Given the description of an element on the screen output the (x, y) to click on. 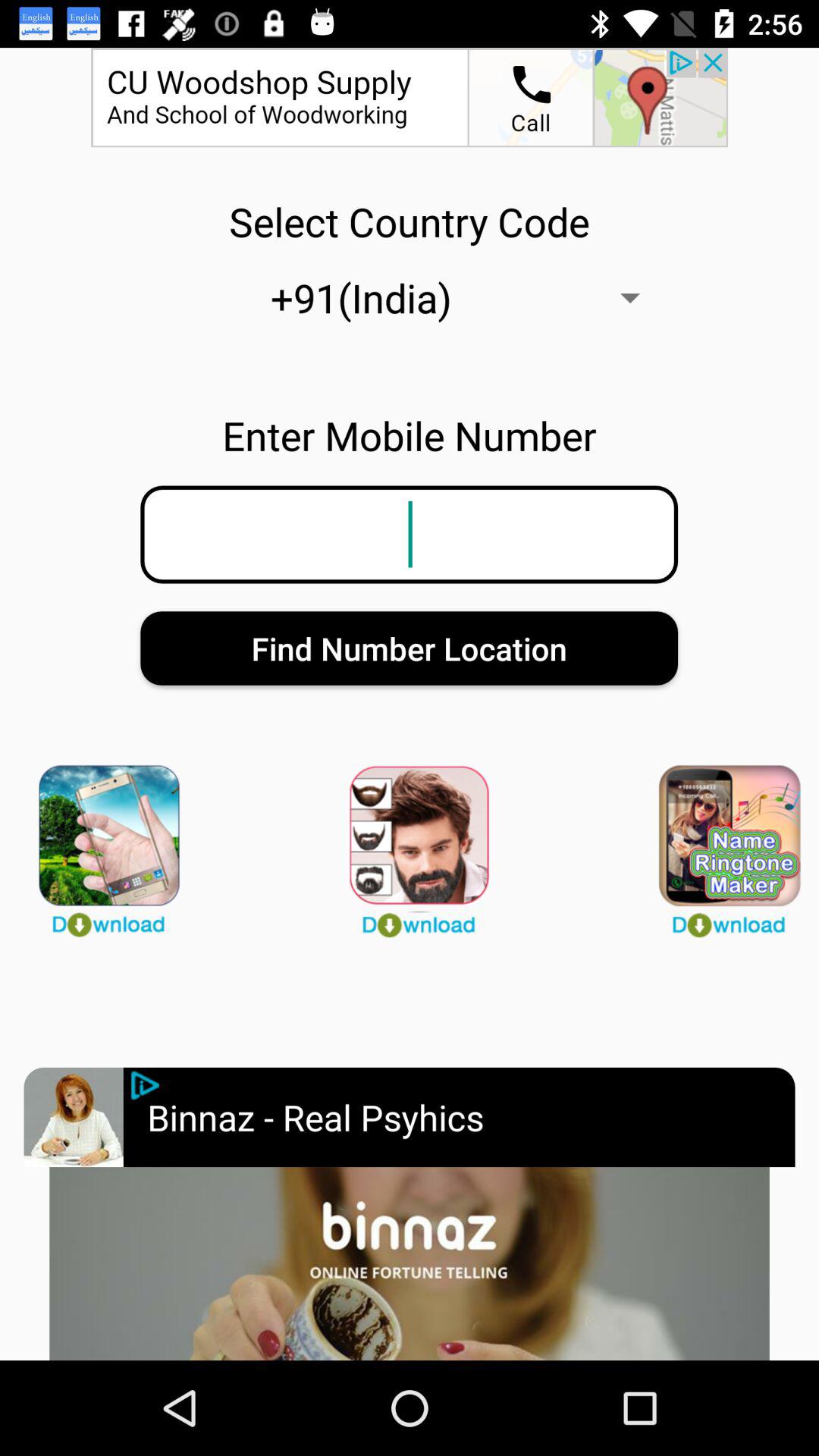
download name ringtone maker app (719, 844)
